Given the description of an element on the screen output the (x, y) to click on. 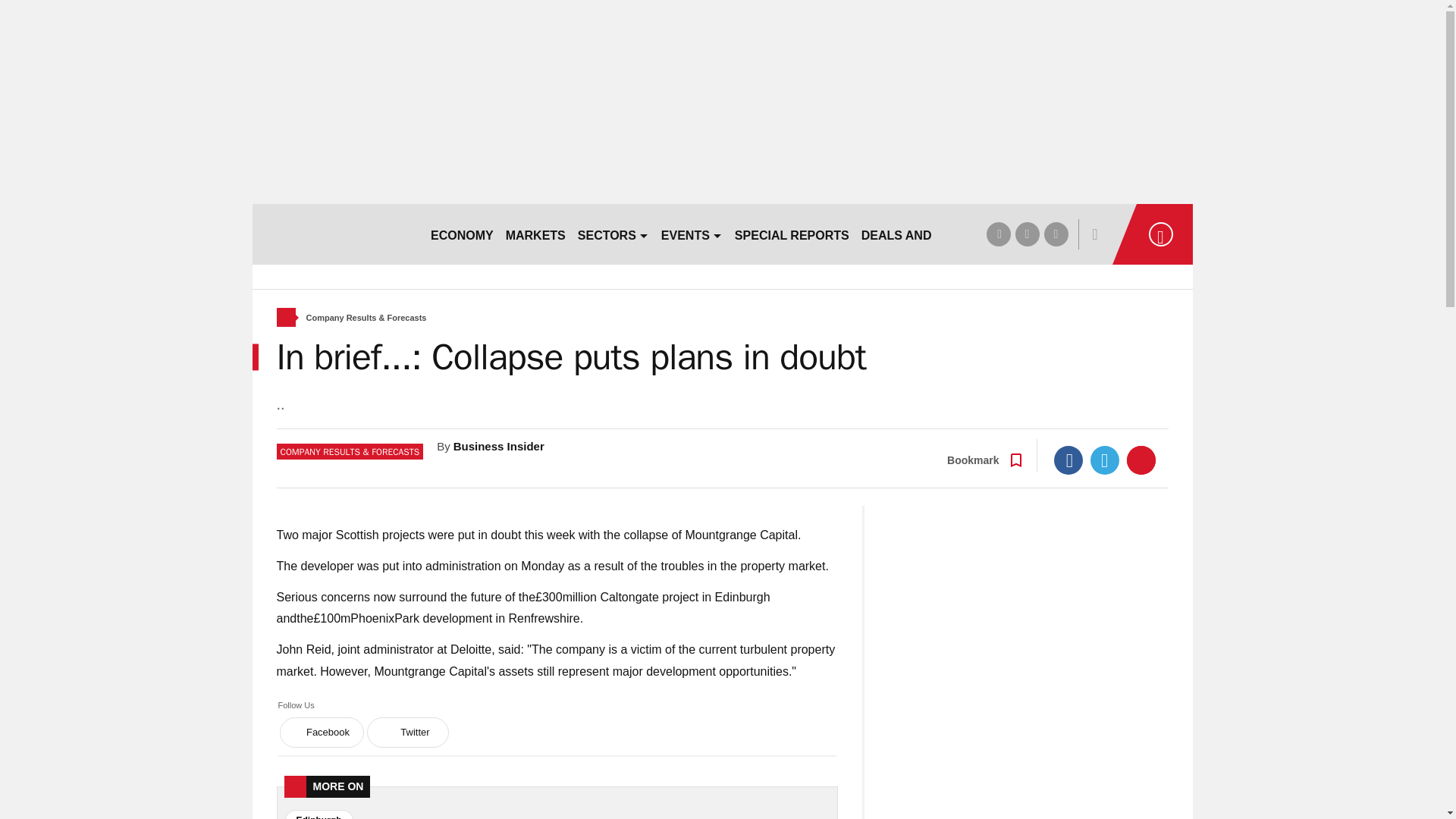
linkedin (1055, 233)
businessInsider (333, 233)
twitter (1026, 233)
facebook (997, 233)
Facebook (1068, 460)
DEALS AND DEALMAKERS (941, 233)
MARKETS (535, 233)
ECONOMY (462, 233)
Twitter (1104, 460)
SPECIAL REPORTS (792, 233)
EVENTS (692, 233)
SECTORS (613, 233)
